Given the description of an element on the screen output the (x, y) to click on. 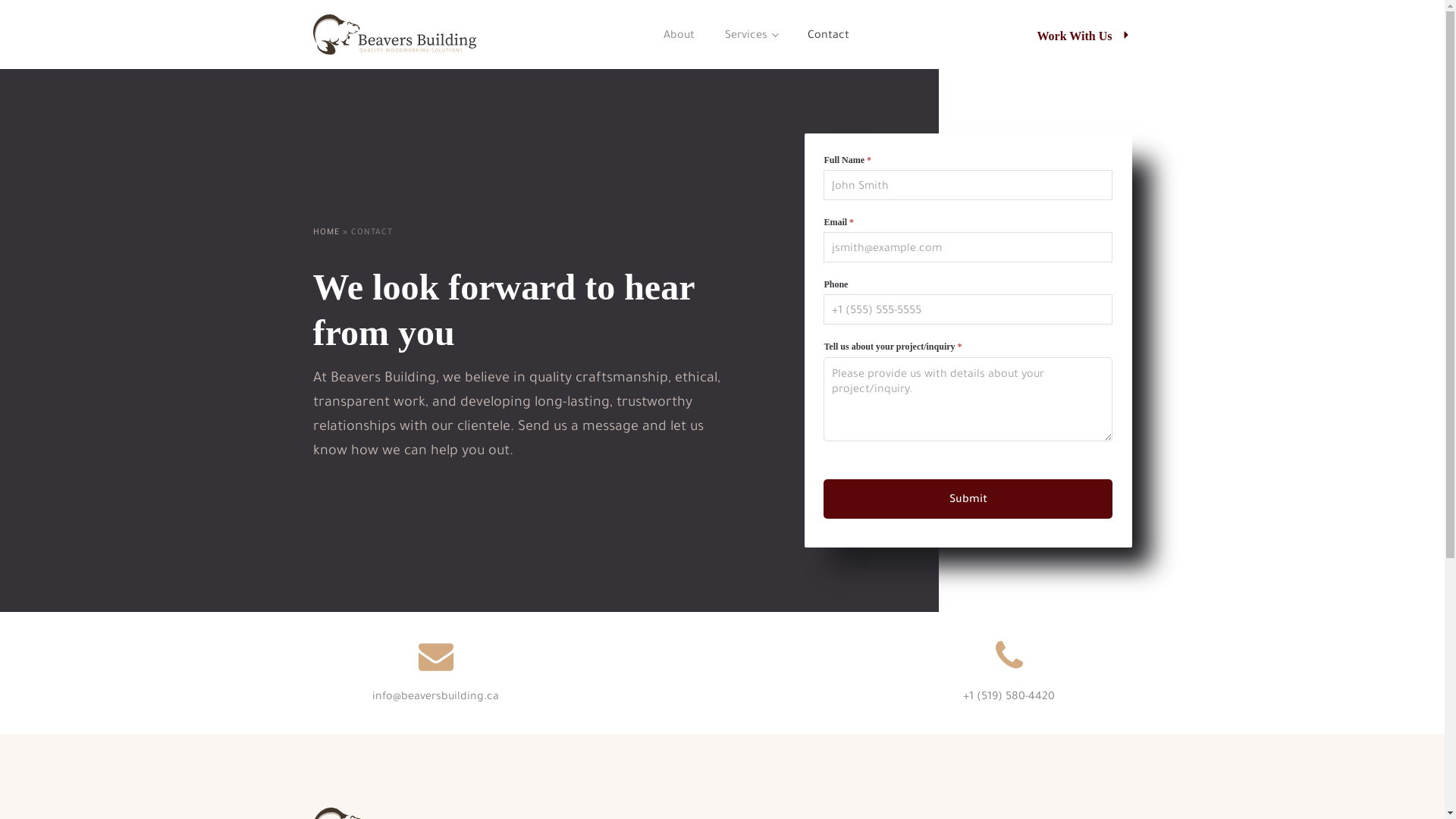
info@beaversbuilding.ca Element type: text (435, 673)
Work With Us Element type: text (1084, 34)
+1 (519) 580-4420 Element type: text (1008, 673)
Services Element type: text (751, 34)
Submit Element type: text (967, 498)
Contact Element type: text (828, 34)
HOME Element type: text (325, 232)
About Element type: text (678, 34)
